Given the description of an element on the screen output the (x, y) to click on. 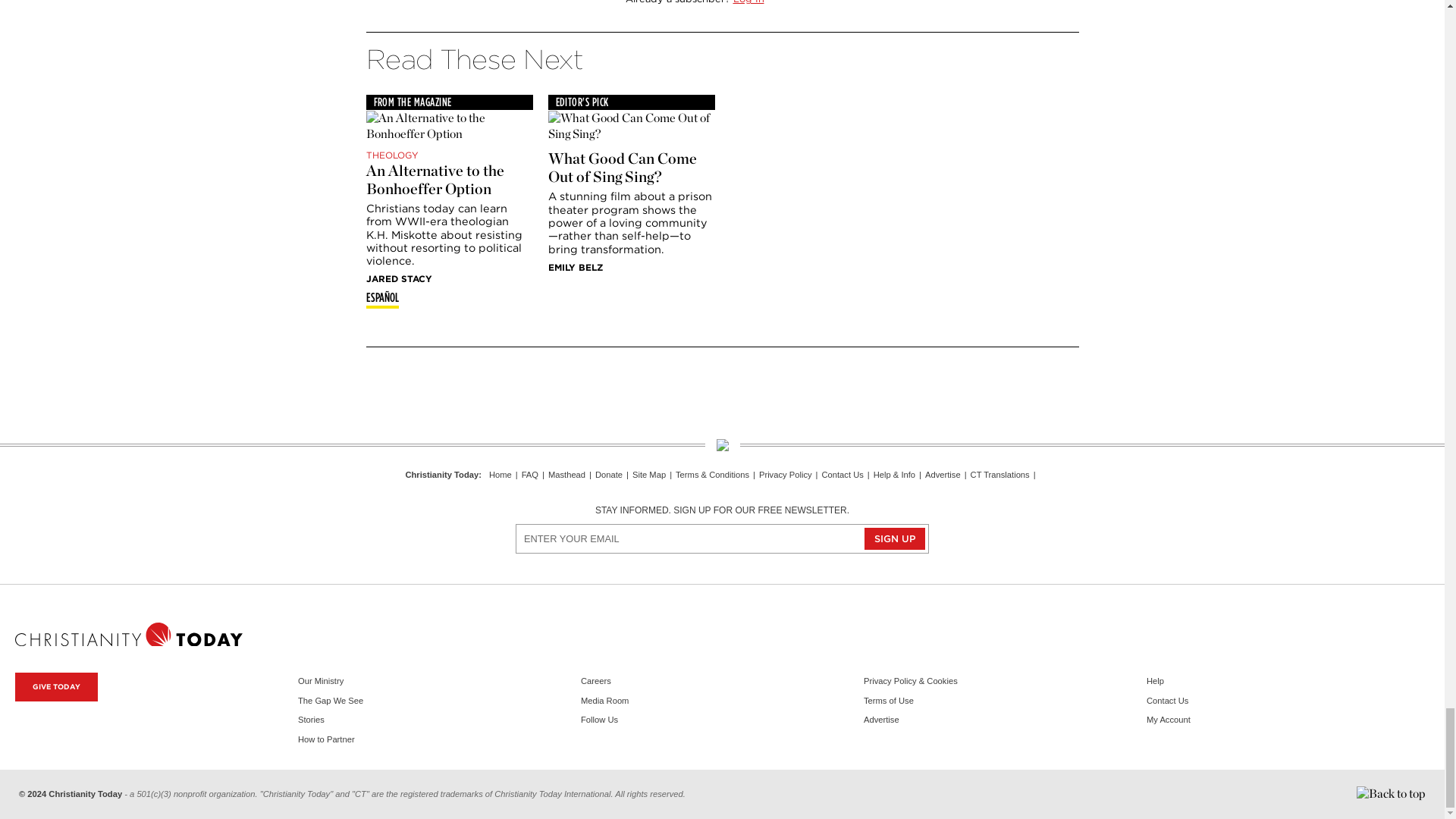
Sign Up (894, 538)
